Given the description of an element on the screen output the (x, y) to click on. 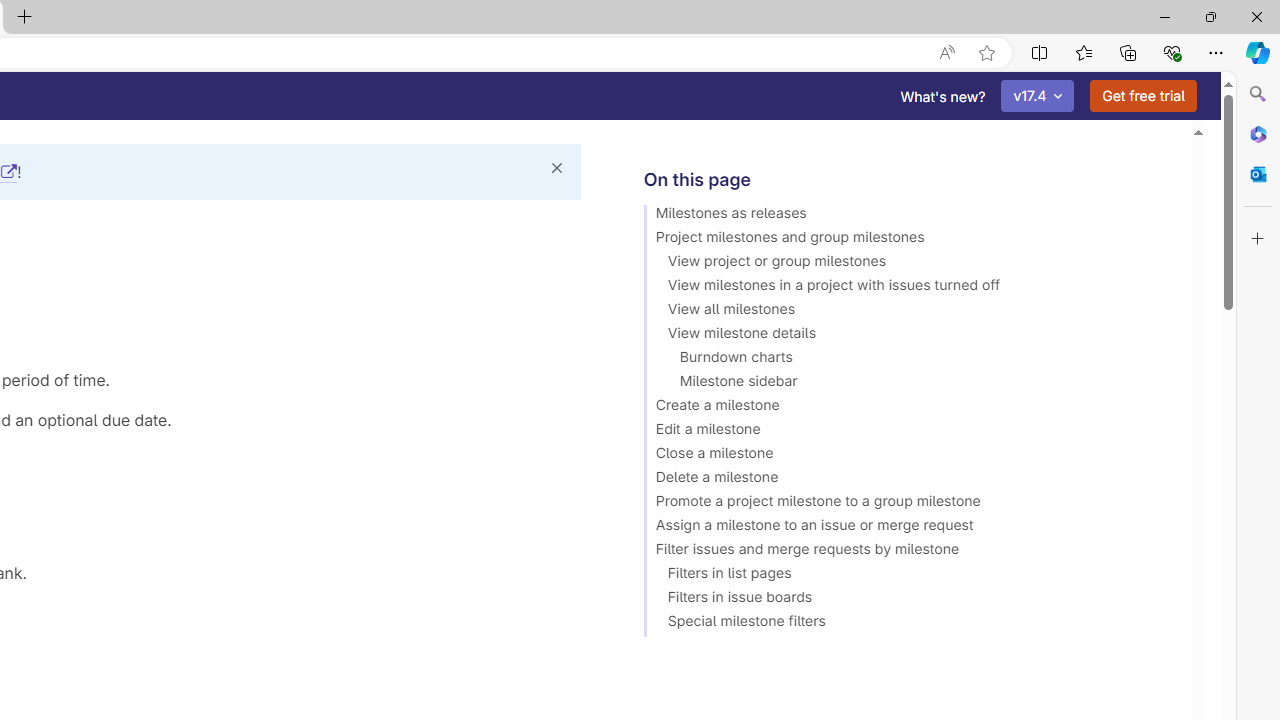
View milestones in a project with issues turned off (908, 287)
Edit a milestone (908, 431)
Close a milestone (908, 456)
View all milestones (908, 312)
Create a milestone (908, 408)
Special milestone filters (908, 624)
Milestone sidebar (908, 384)
View project or group milestones (908, 264)
Filters in list pages (908, 575)
Project milestones and group milestones (908, 240)
Milestones as releases (908, 215)
Create a milestone (908, 408)
